Given the description of an element on the screen output the (x, y) to click on. 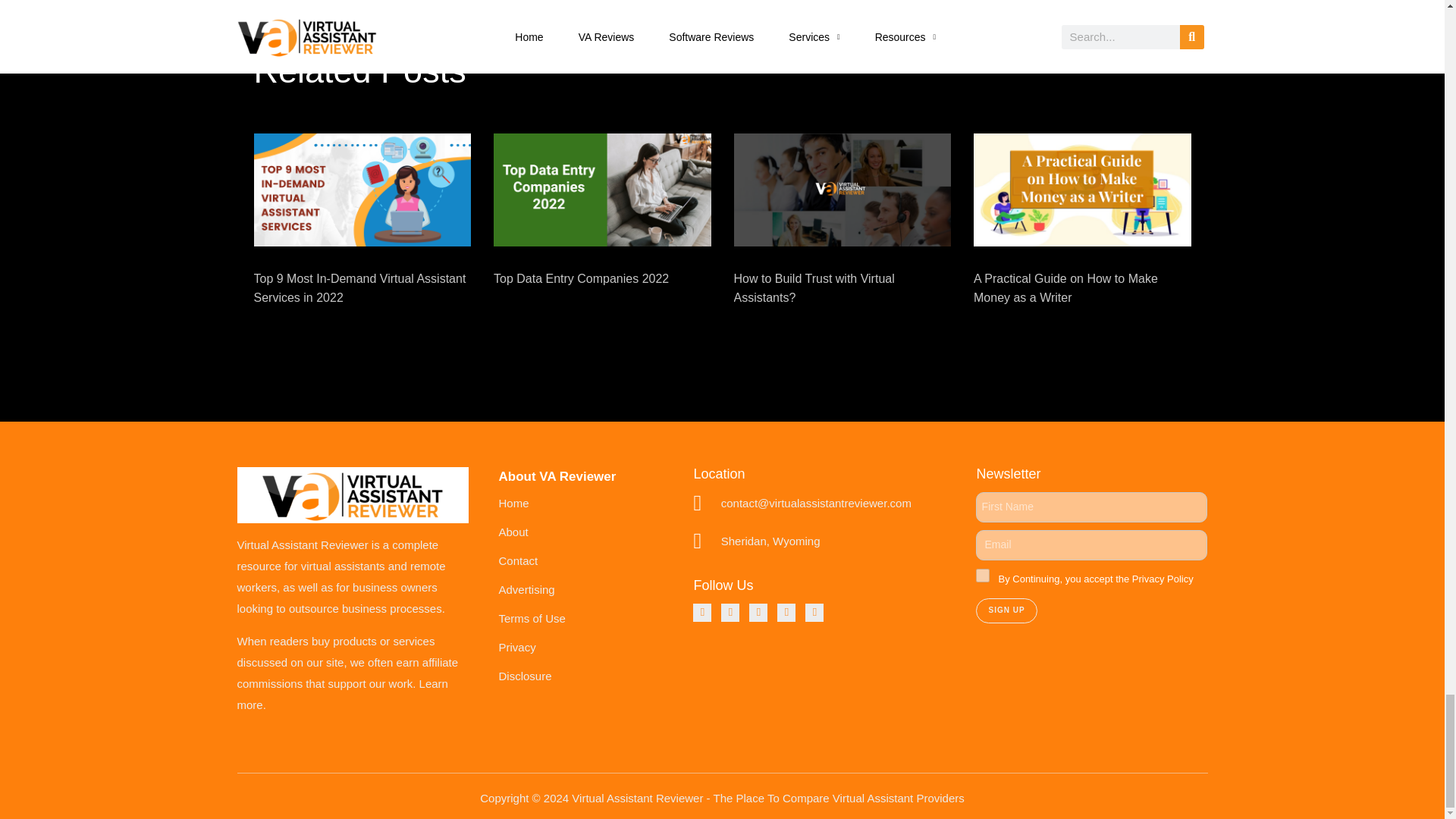
By Continuing, you accept the Privacy Policy (982, 575)
